Given the description of an element on the screen output the (x, y) to click on. 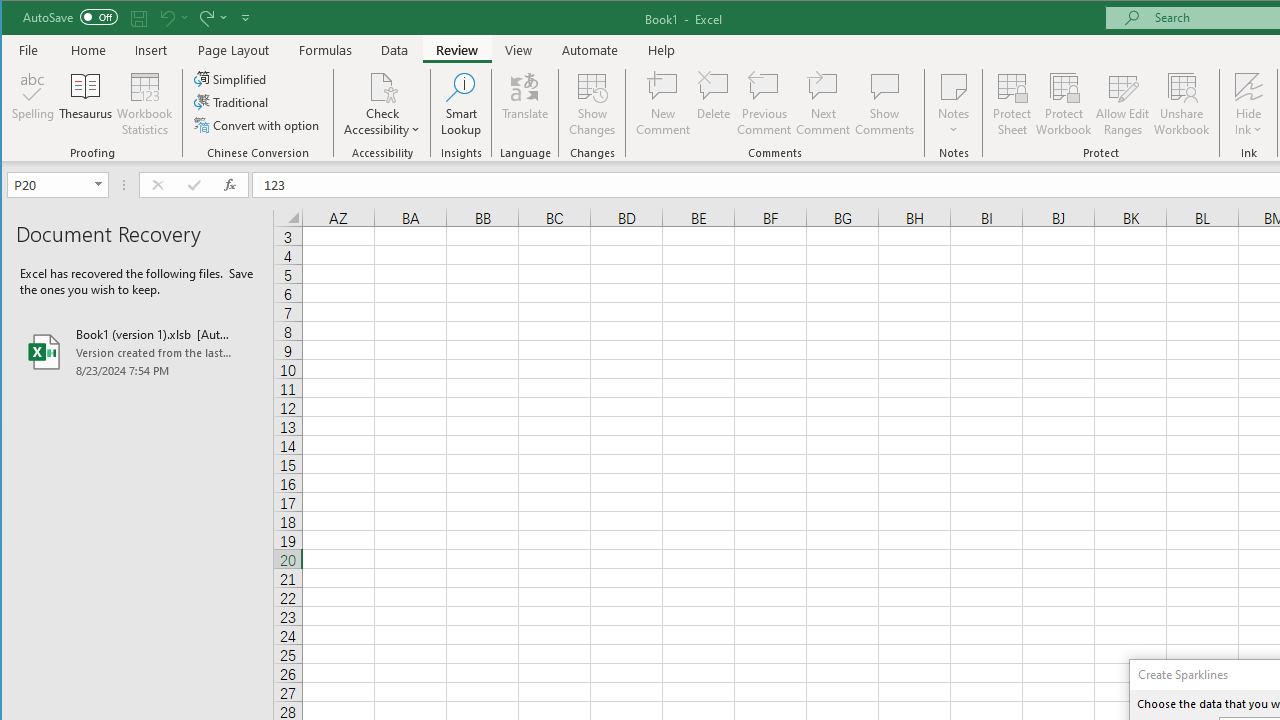
Notes (954, 104)
Hide Ink (1248, 86)
Review (456, 50)
Automate (589, 50)
Help (661, 50)
Convert with option (258, 124)
Unshare Workbook (1182, 104)
Protect Workbook... (1064, 104)
Hide Ink (1248, 104)
Check Accessibility (381, 86)
Formulas (326, 50)
Protect Sheet... (1012, 104)
